Given the description of an element on the screen output the (x, y) to click on. 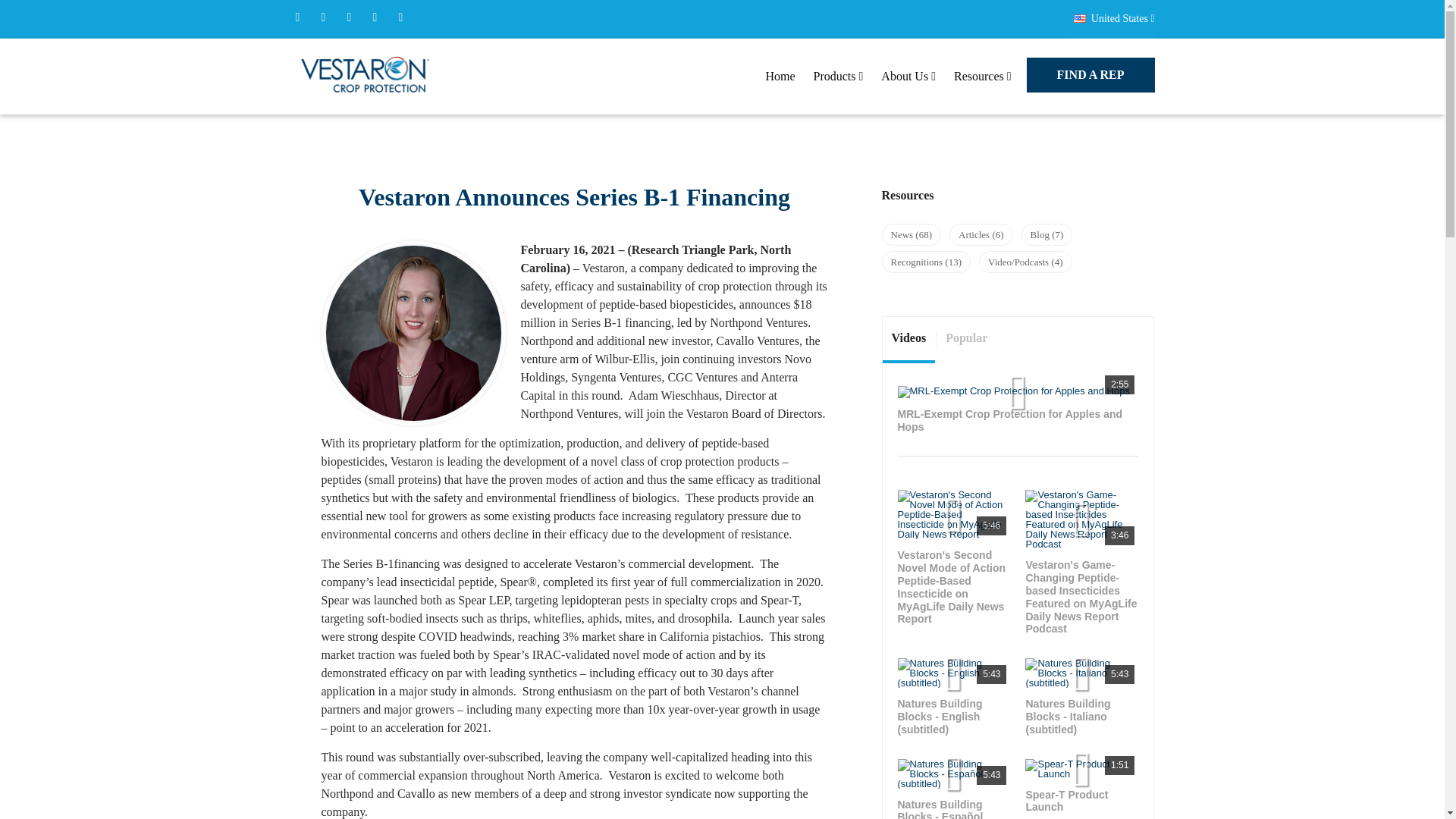
Home (779, 76)
facebook (296, 17)
Products (838, 76)
Resources (982, 76)
FIND A REP (1090, 74)
twitter (322, 17)
Vestaron (365, 76)
About Us (908, 76)
United States (1109, 18)
instagram (400, 17)
linkedIn (373, 17)
AnnaRath (413, 332)
Youtube (348, 17)
